Given the description of an element on the screen output the (x, y) to click on. 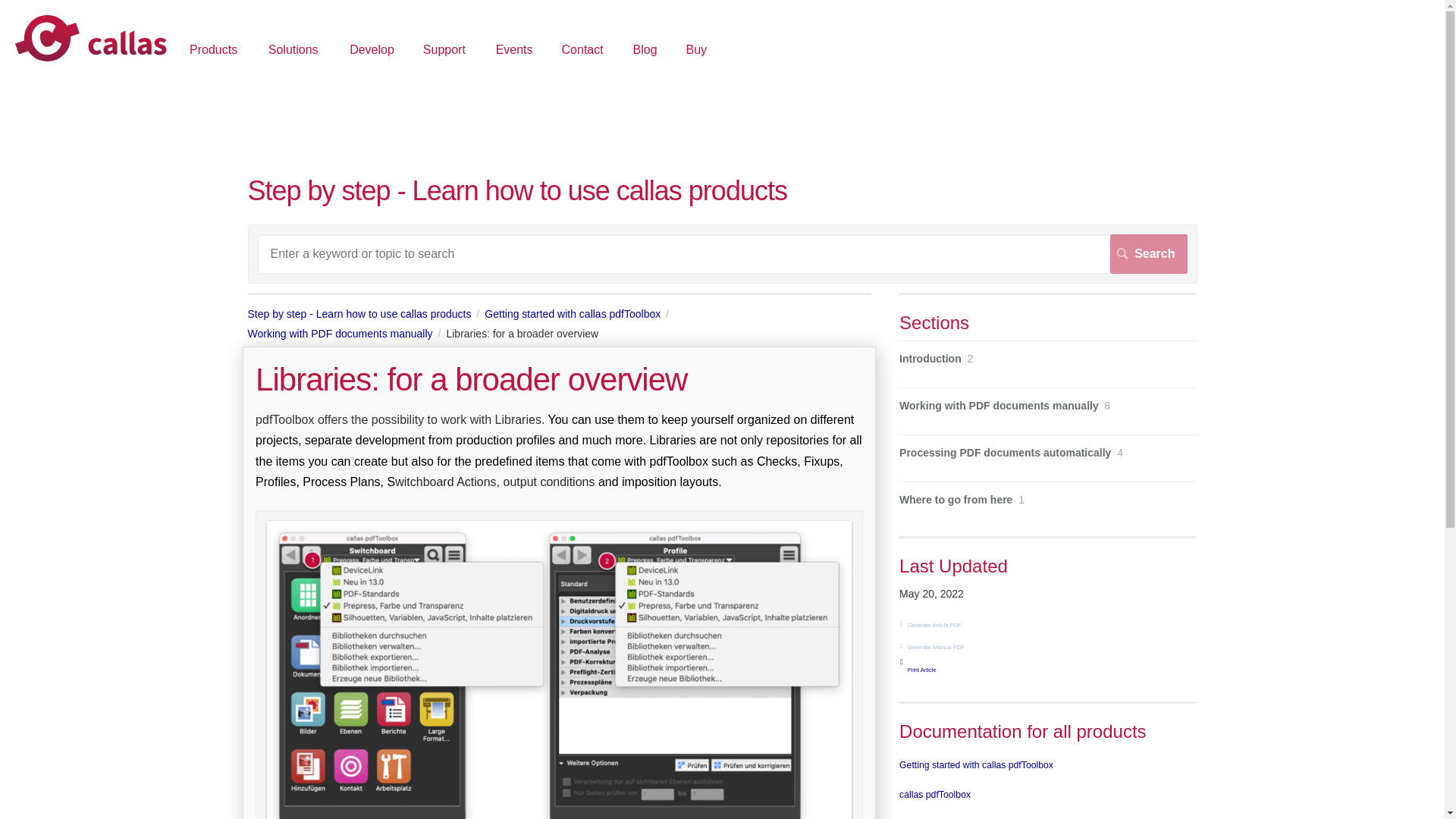
Search (1147, 253)
Products (215, 51)
Search (1147, 253)
Develop (372, 51)
callas software (90, 38)
Solutions (295, 51)
Support (445, 51)
Products (215, 51)
Solutions (295, 51)
